Given the description of an element on the screen output the (x, y) to click on. 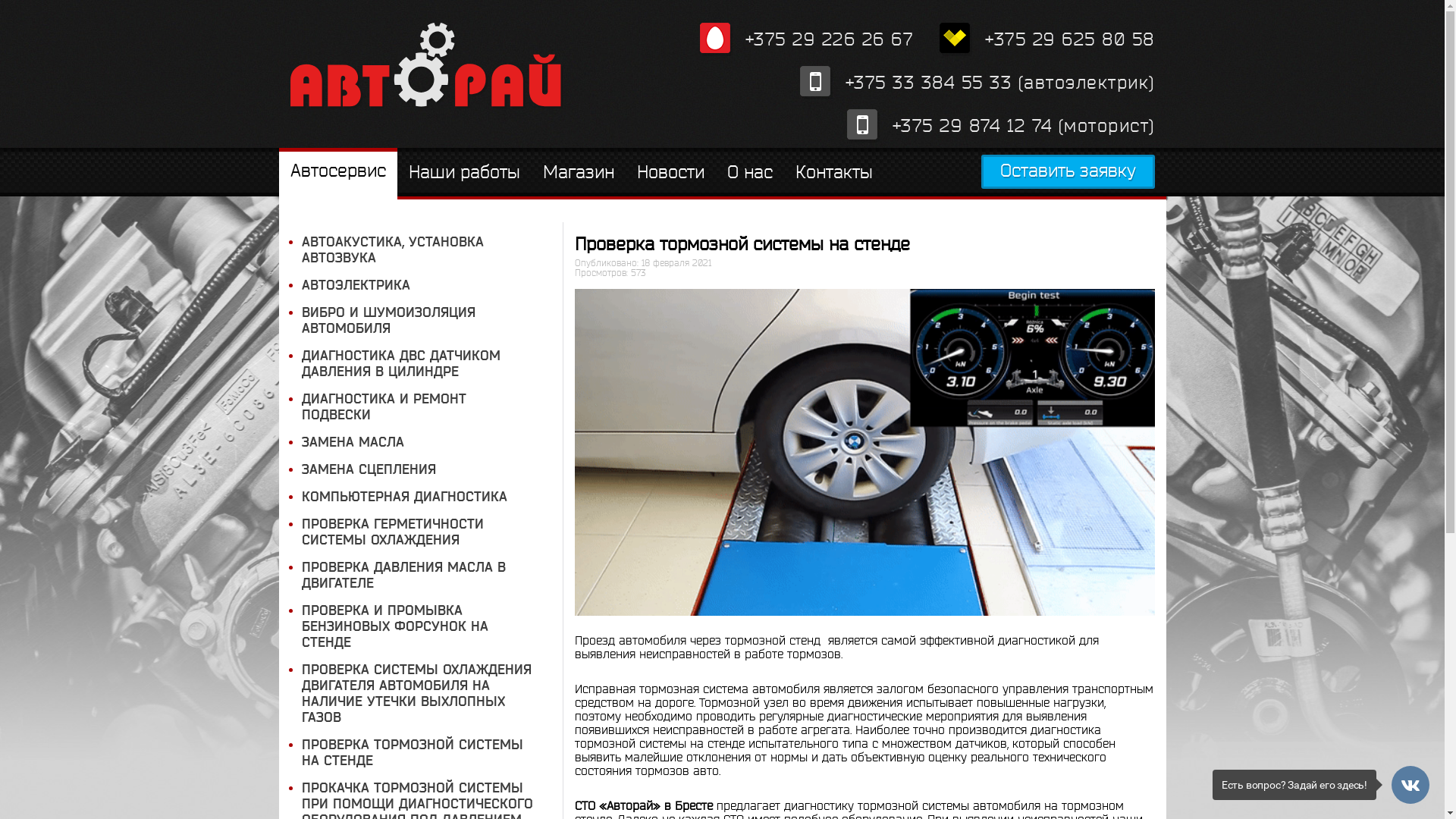
+375 29 625 80 58 Element type: text (1046, 39)
+375 29 226 26 67 Element type: text (806, 39)
